Given the description of an element on the screen output the (x, y) to click on. 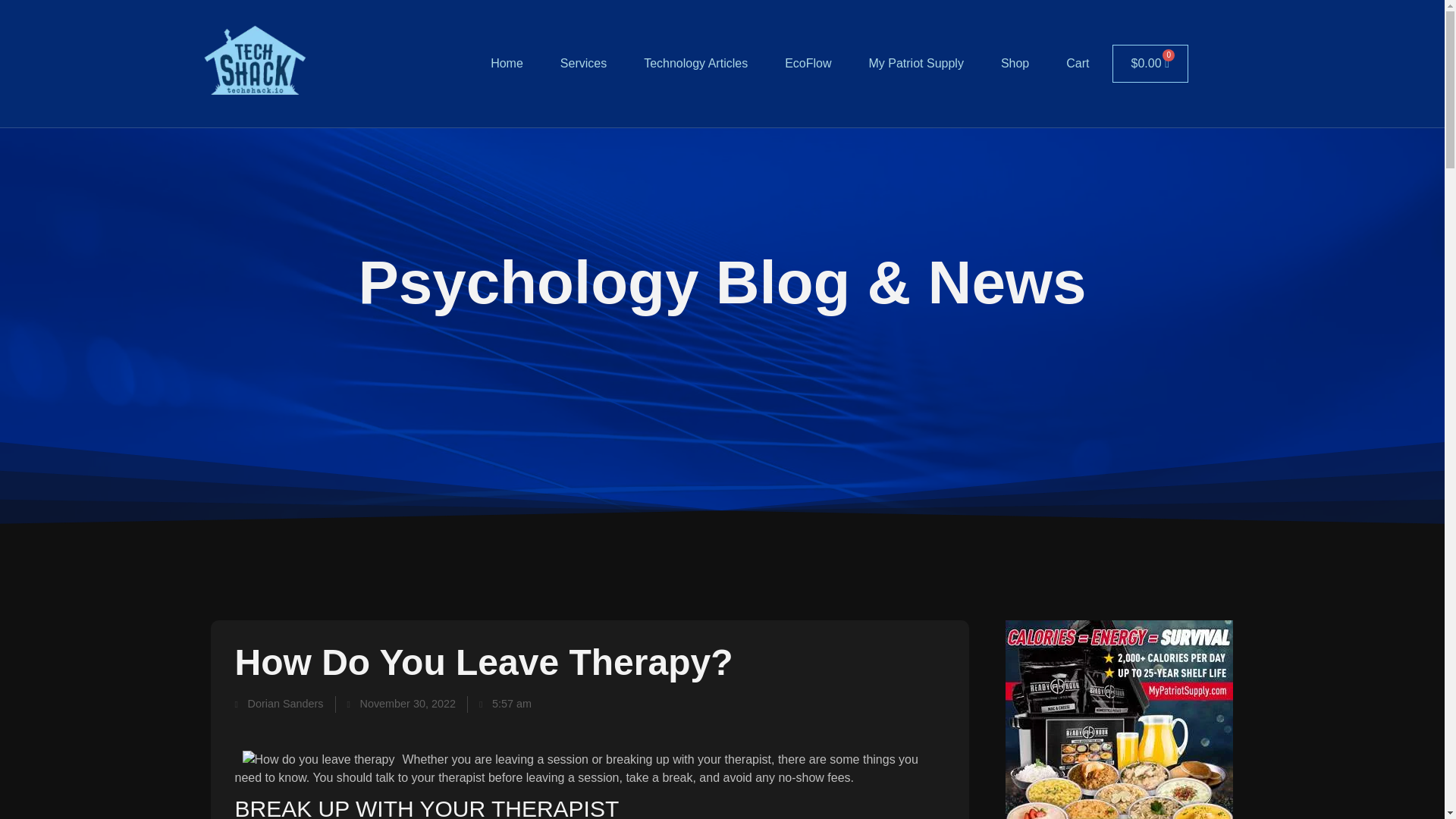
November 30, 2022 (401, 704)
Technology Articles (695, 63)
Dorian Sanders (278, 704)
My Patriot Supply (915, 63)
EcoFlow (807, 63)
Services (582, 63)
How Do You Leave Therapy? 1 (318, 760)
